Given the description of an element on the screen output the (x, y) to click on. 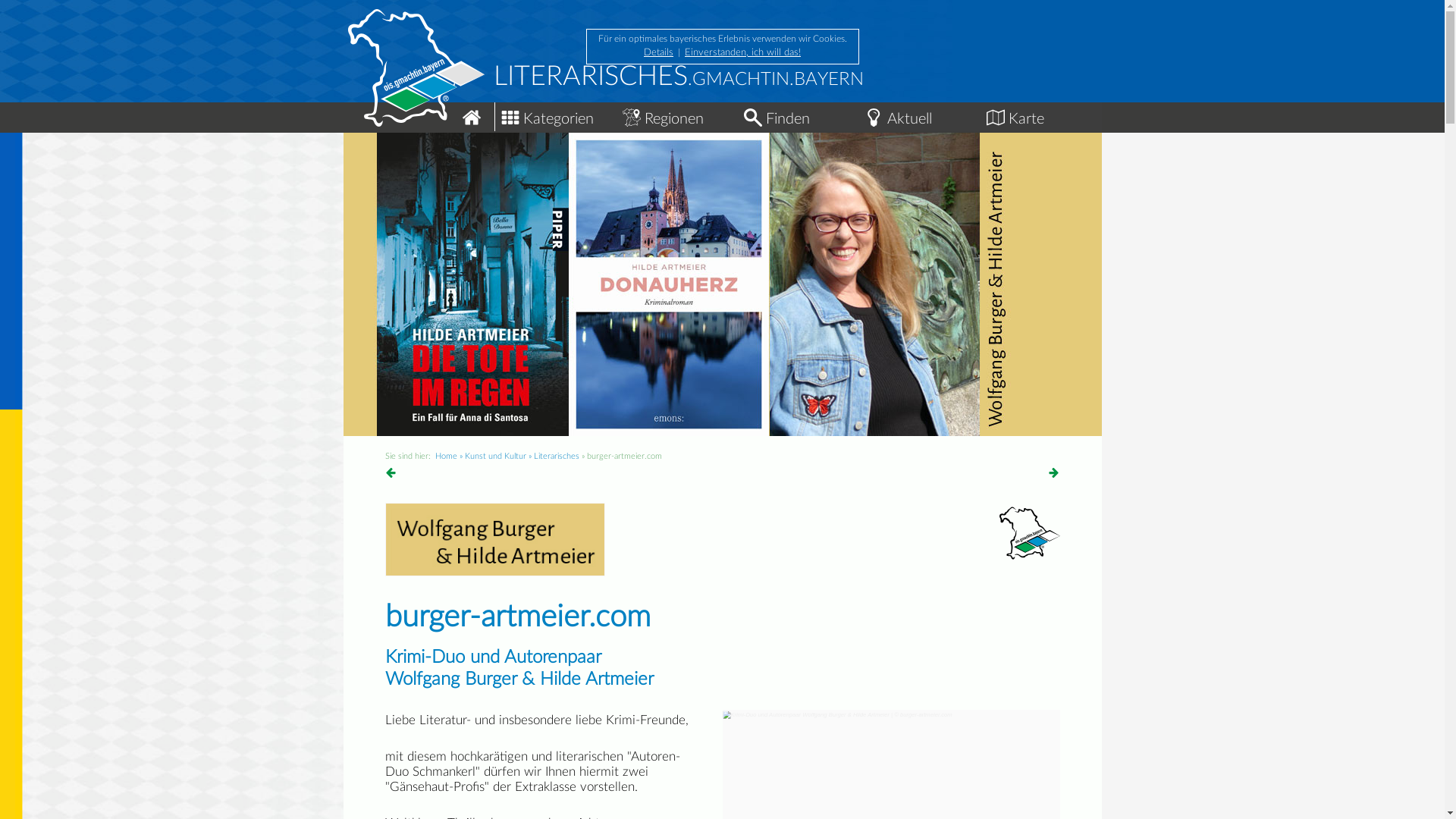
Aktuell Element type: text (918, 115)
Details Element type: text (658, 52)
Home Element type: text (417, 111)
dahoam bei gmachtin.bayern Element type: hover (471, 117)
gmachtin.bayern - logo Element type: hover (1029, 532)
Aktuelle Events im Freistaat Element type: hover (873, 117)
Karte Element type: text (1040, 115)
Finden bei gmachtin.bayern Element type: hover (752, 117)
Regionen Element type: text (676, 115)
Home Element type: text (446, 455)
auf der Karte bei gmachtin.bayern Element type: hover (994, 117)
in den Regionen bei gmachtin.bayern Element type: hover (630, 117)
Finden Element type: text (797, 115)
kategorien bei gmachtin.bayern Element type: hover (509, 117)
Kategorien Element type: text (554, 115)
Literarisches Element type: text (556, 455)
Kunst und Kultur Element type: text (494, 455)
Einverstanden, ich will das! Element type: text (742, 52)
